Given the description of an element on the screen output the (x, y) to click on. 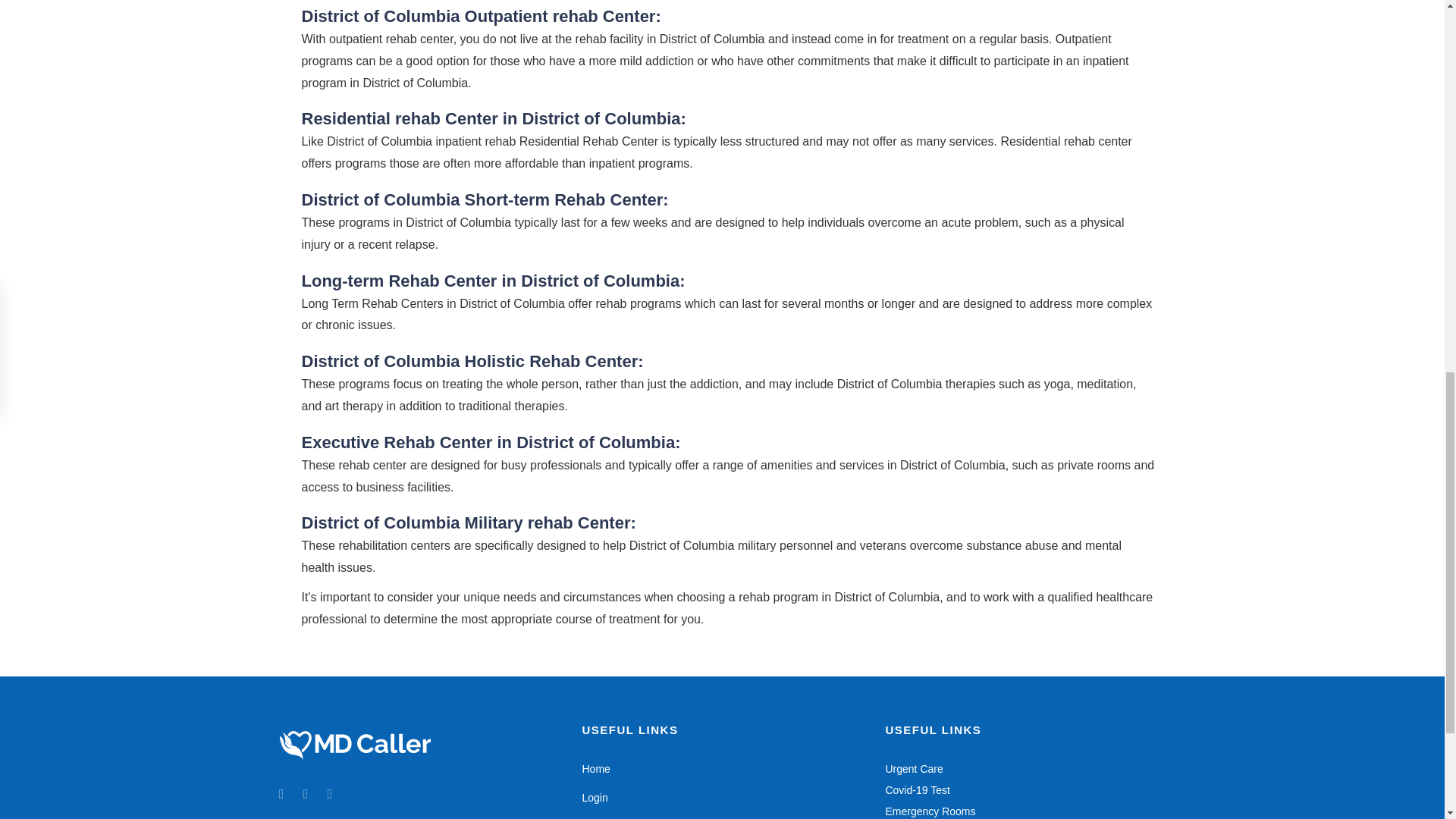
Emergency Rooms (930, 811)
Home (595, 768)
Urgent Care (913, 768)
Login (593, 797)
Covid-19 Test (917, 789)
